Given the description of an element on the screen output the (x, y) to click on. 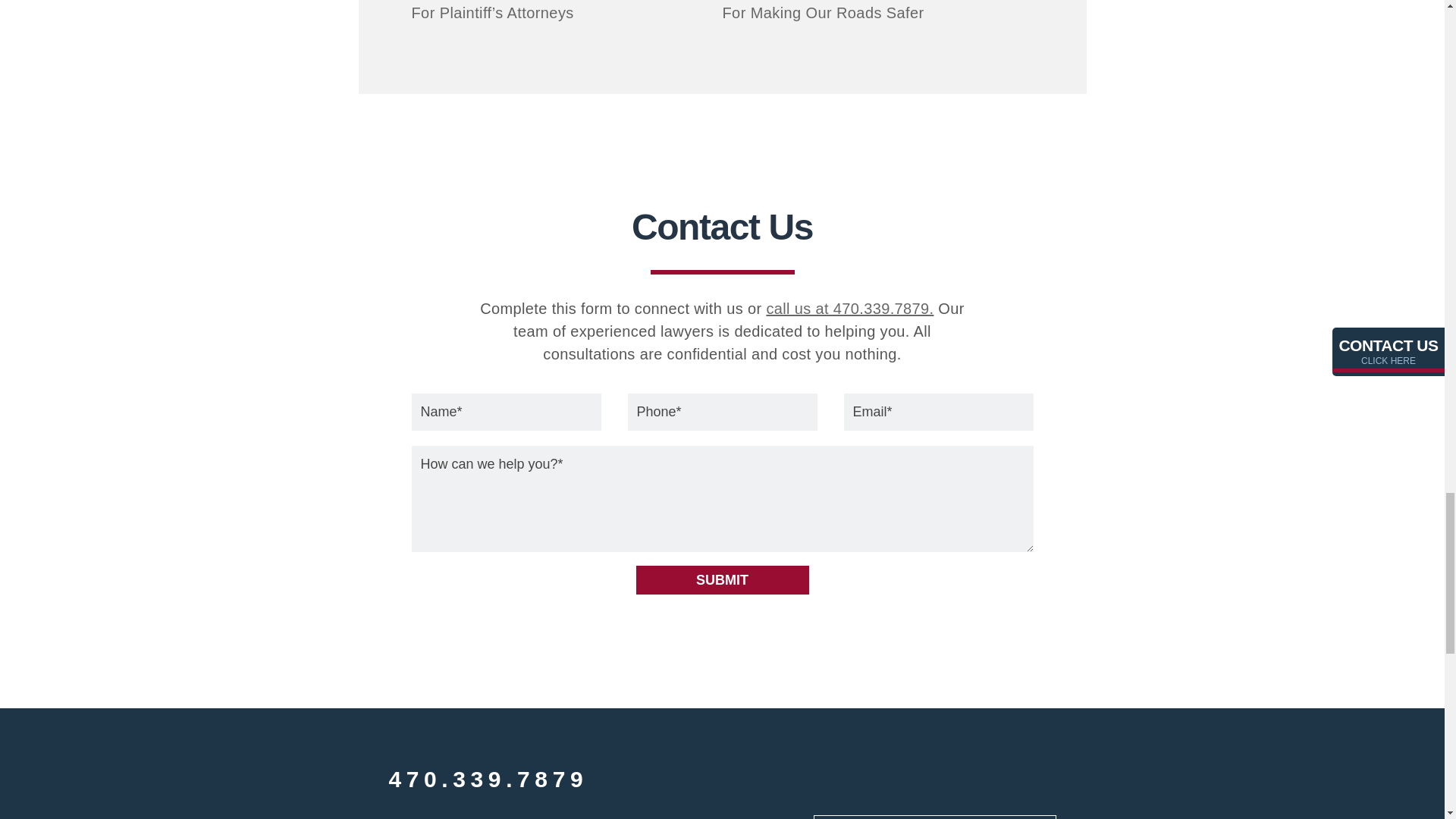
Submit (721, 579)
